Given the description of an element on the screen output the (x, y) to click on. 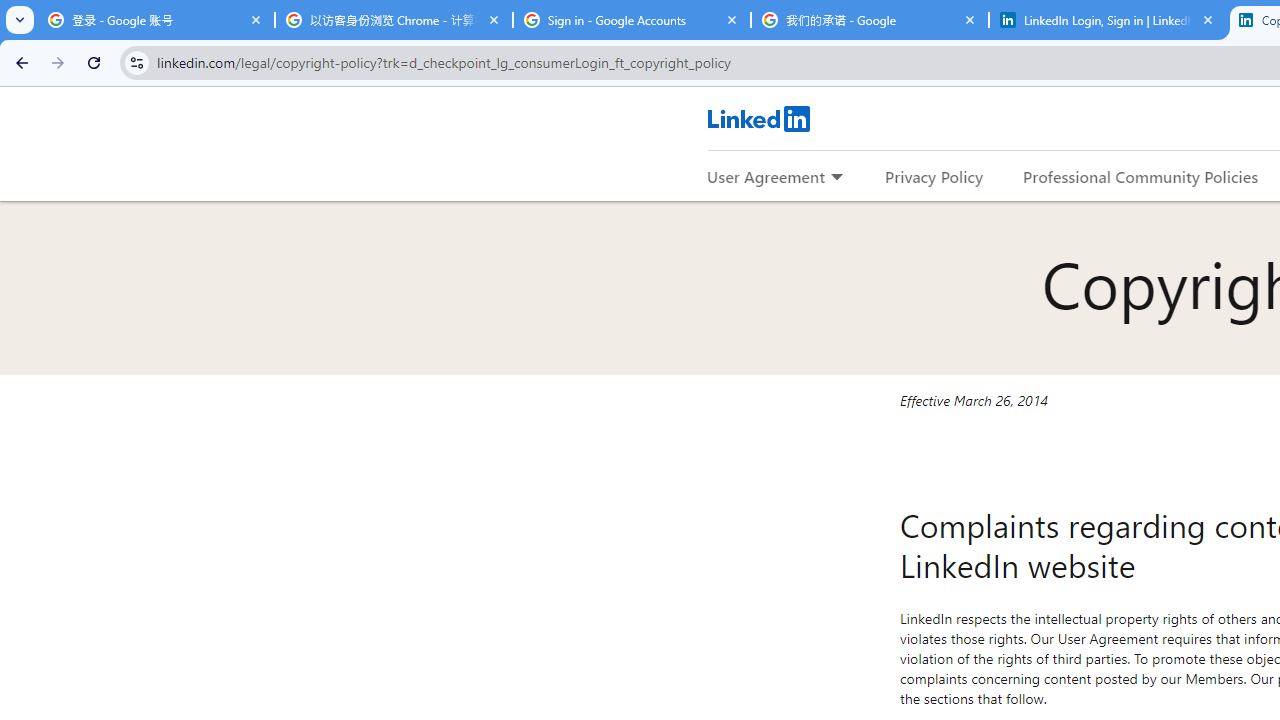
LinkedIn Login, Sign in | LinkedIn (1108, 20)
Sign in - Google Accounts (632, 20)
